Given the description of an element on the screen output the (x, y) to click on. 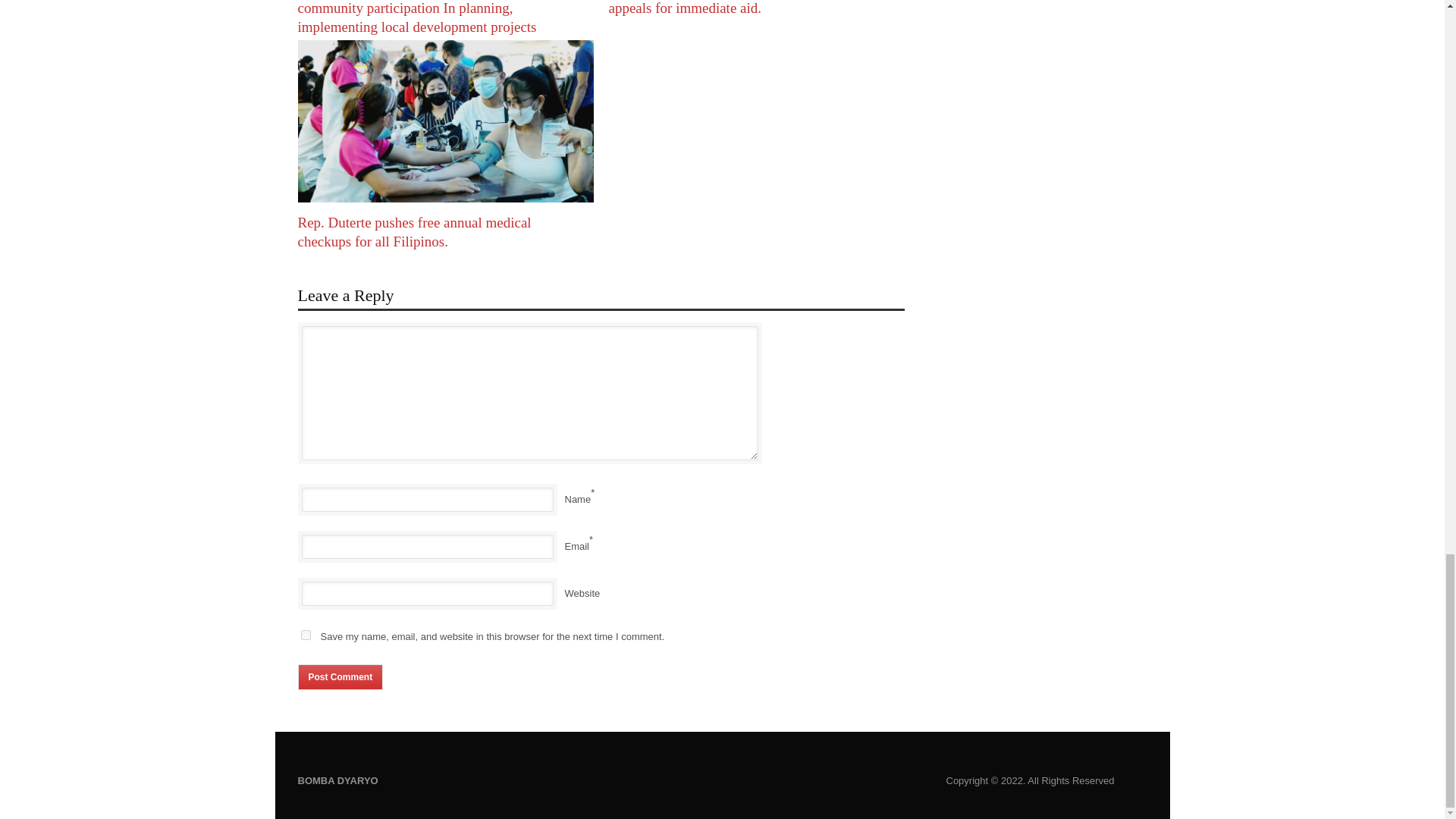
Post Comment (339, 677)
yes (304, 634)
